Given the description of an element on the screen output the (x, y) to click on. 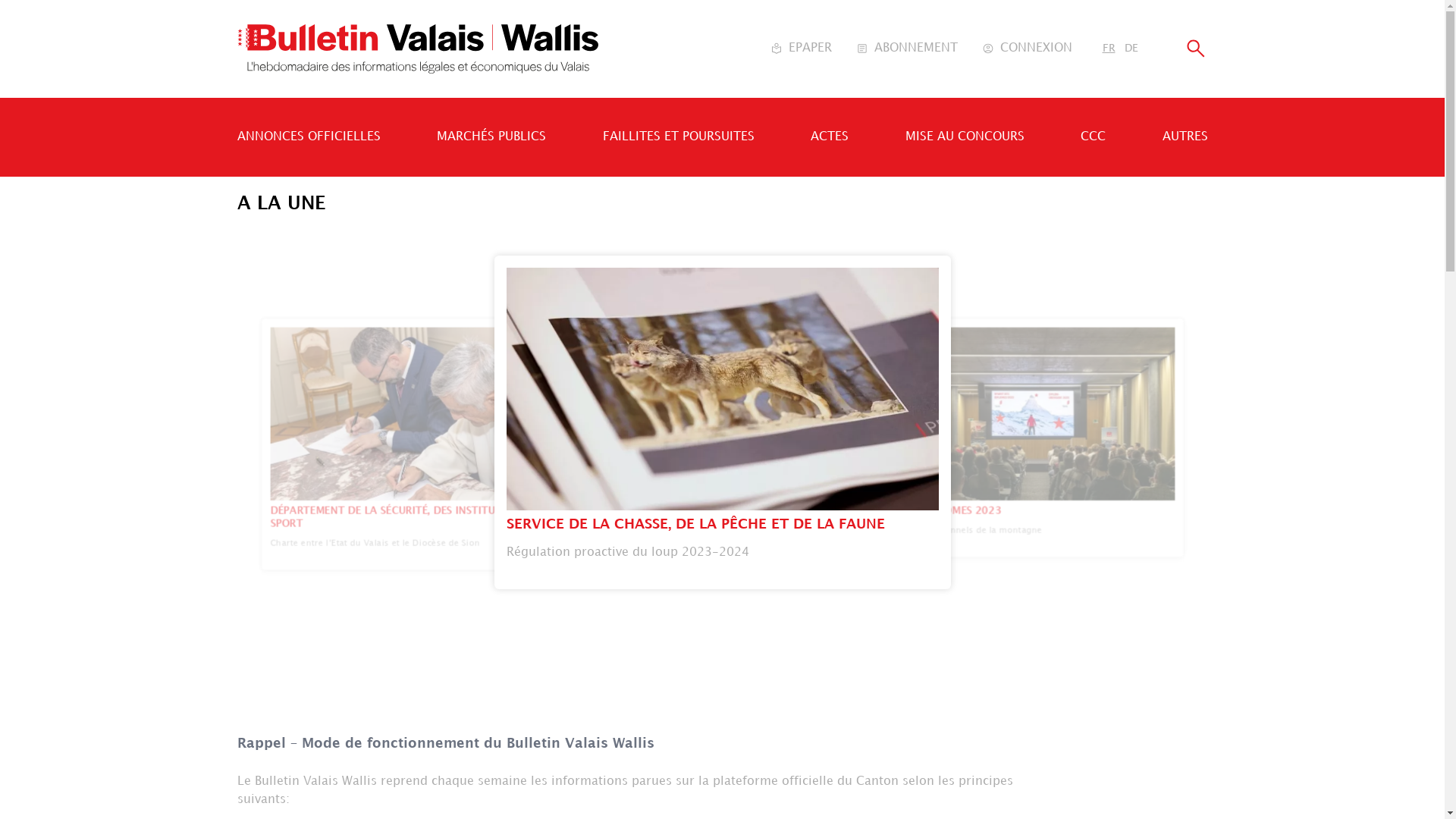
EPAPER Element type: text (800, 48)
ABONNEMENT Element type: text (906, 48)
MISE AU CONCOURS Element type: text (964, 136)
ACTES Element type: text (829, 136)
DE Element type: text (1130, 48)
CCC Element type: text (1092, 136)
CONNEXION Element type: text (1026, 48)
FAILLITES ET POURSUITES Element type: text (677, 136)
AUTRES Element type: text (1184, 136)
ANNONCES OFFICIELLES Element type: text (307, 136)
FR Element type: text (1108, 48)
